Given the description of an element on the screen output the (x, y) to click on. 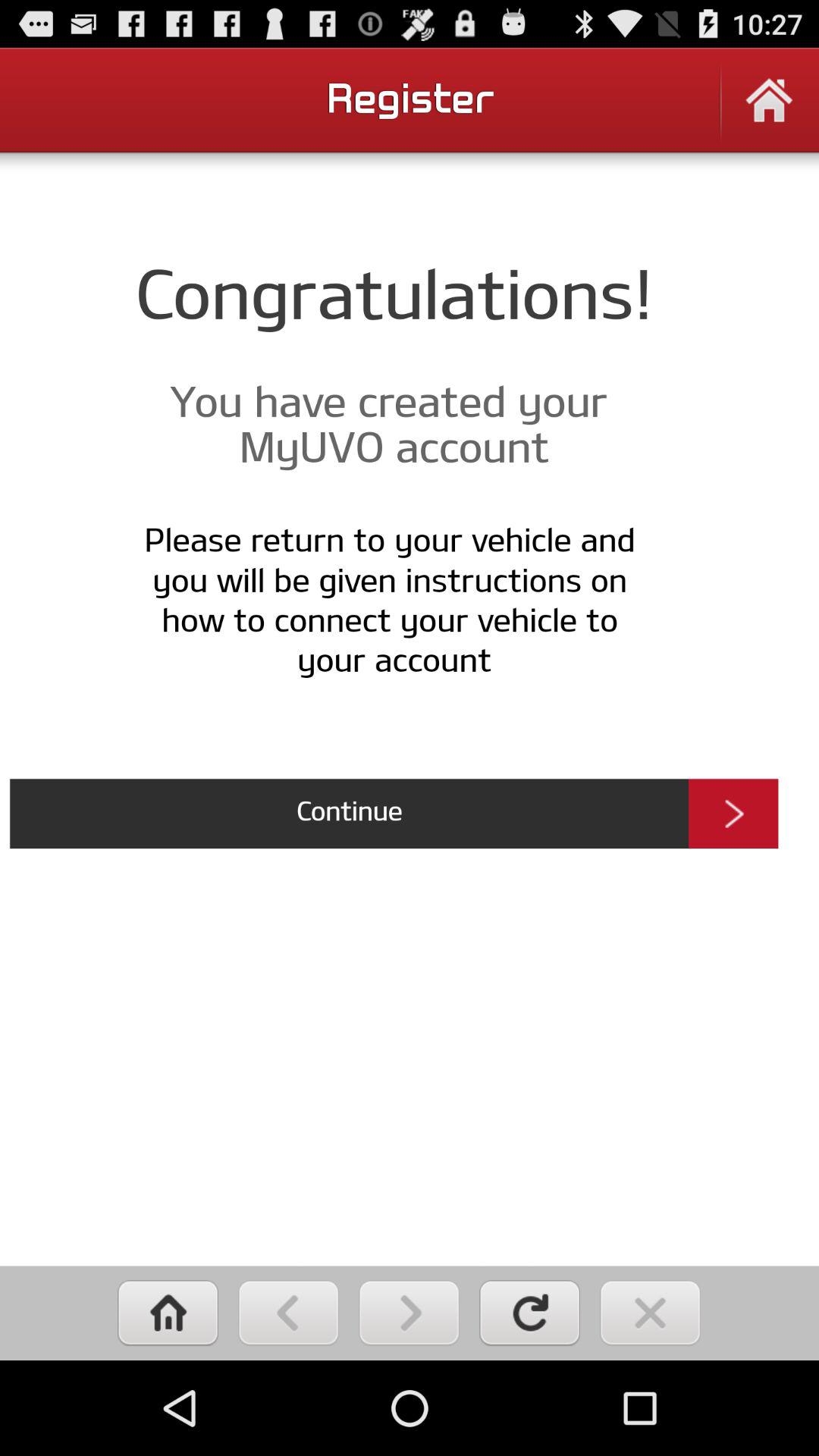
click next (408, 1313)
